Given the description of an element on the screen output the (x, y) to click on. 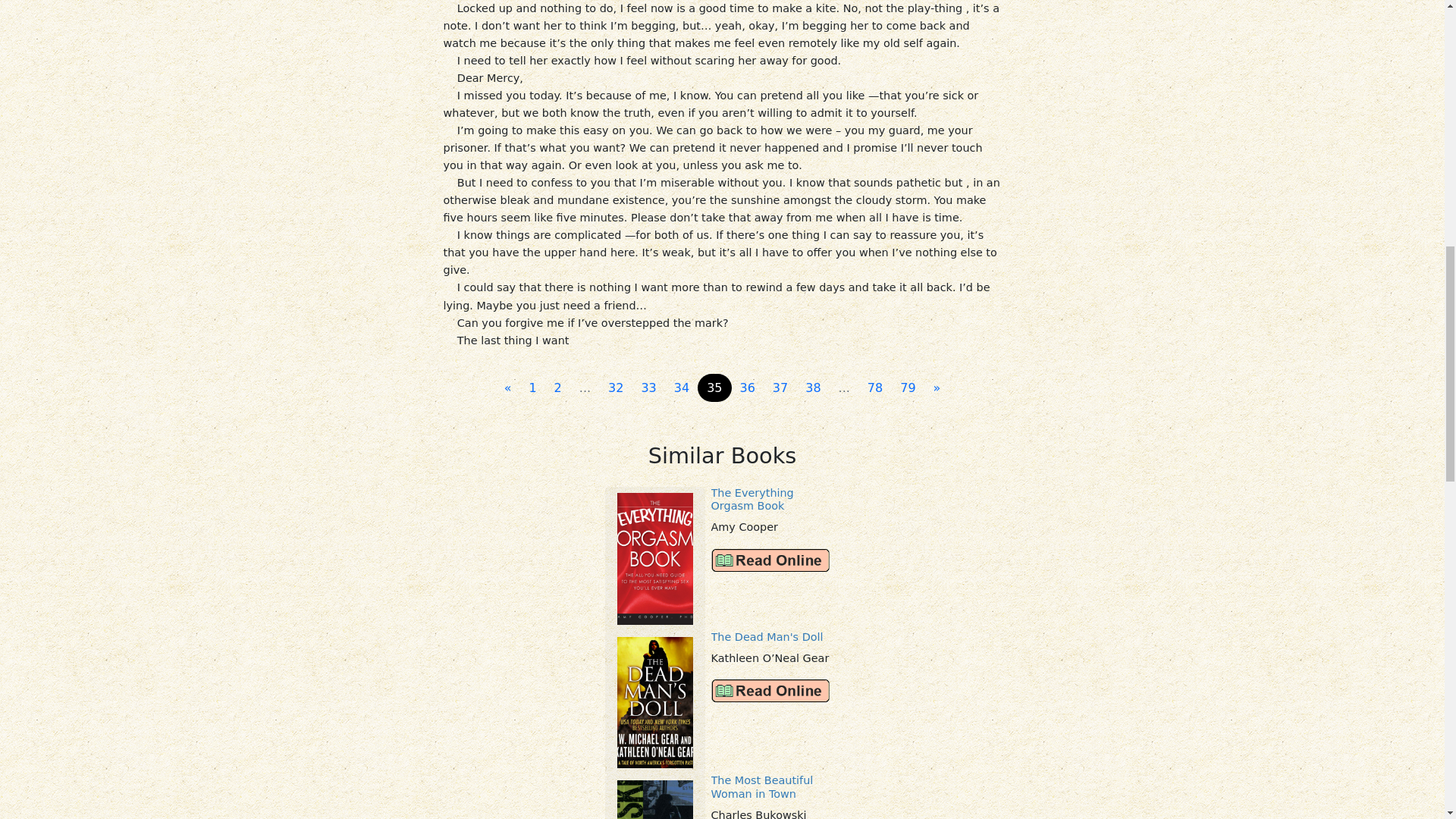
37 (779, 387)
34 (681, 387)
2 (557, 387)
36 (747, 387)
... (584, 387)
... (844, 387)
38 (812, 387)
1 (531, 387)
33 (648, 387)
35 (713, 387)
